Given the description of an element on the screen output the (x, y) to click on. 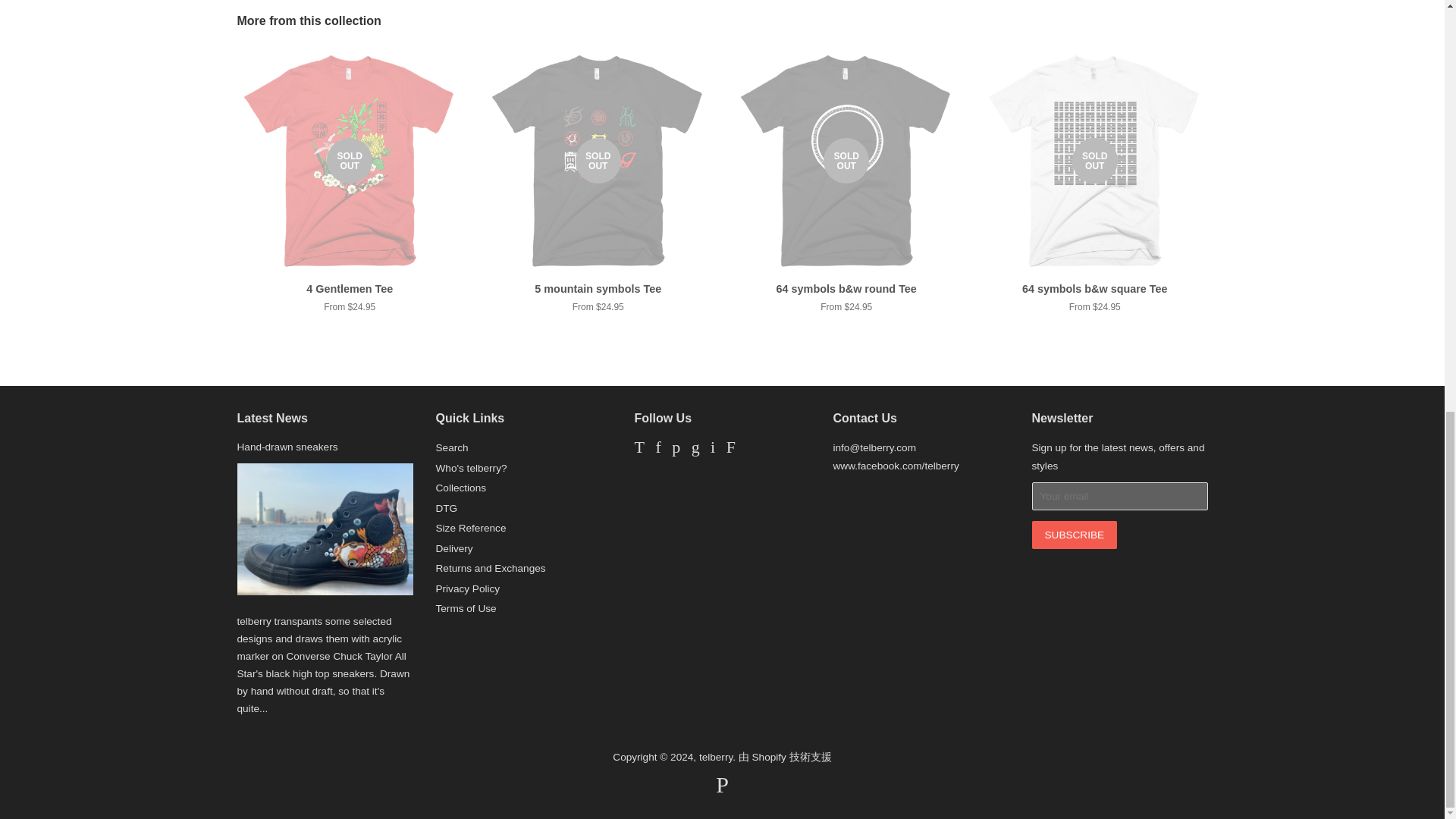
Subscribe (1073, 534)
Latest News (271, 418)
Search (451, 447)
telberry on Google Plus (695, 449)
telberry on Instagram (712, 449)
telberry on Pinterest (675, 449)
Collections (460, 487)
Who's telberry? (470, 468)
telberry on Facebook (658, 449)
telberry on Twitter (638, 449)
Hand-drawn sneakers (286, 446)
telberry on Fancy (730, 449)
